Given the description of an element on the screen output the (x, y) to click on. 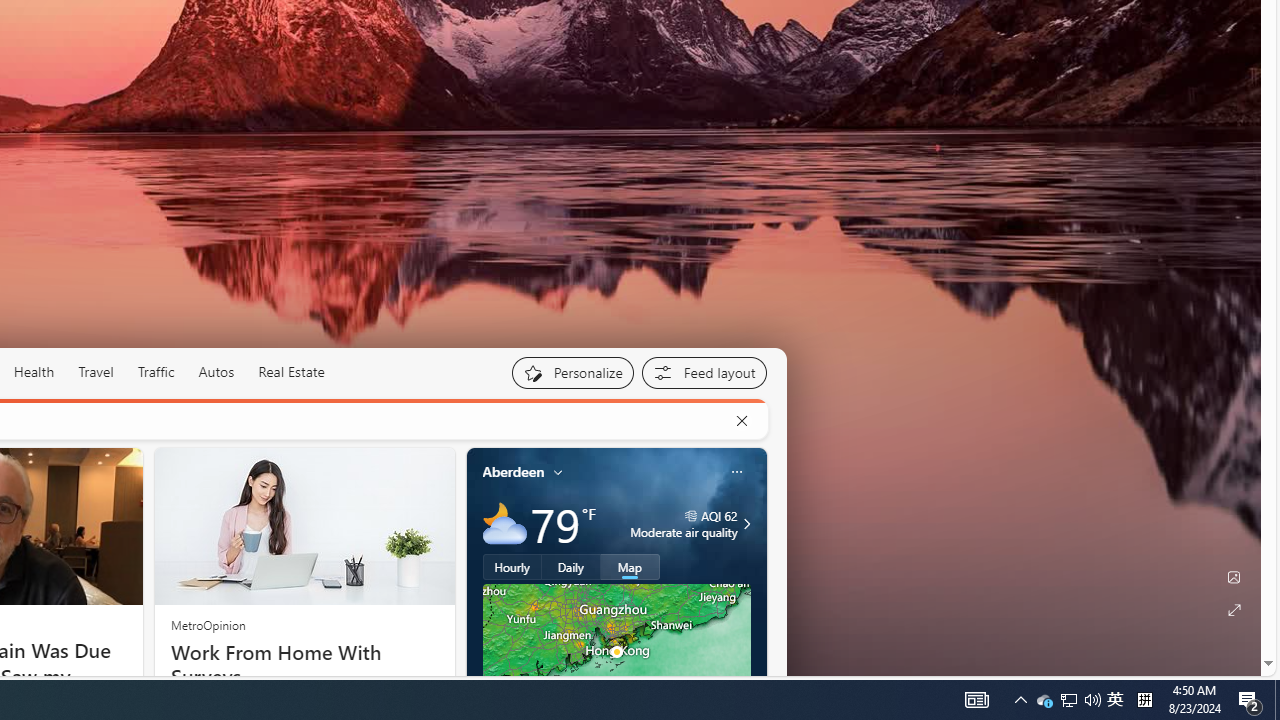
Cancel (741, 421)
aqi-icon AQI 62 Moderate air quality (683, 524)
Daily (571, 566)
Feed settings (703, 372)
Moderate air quality (744, 524)
Edit Background (1233, 577)
Work From Home With Surveys (304, 664)
Autos (215, 371)
Map (630, 566)
Class: weather-arrow-glyph (746, 523)
